Given the description of an element on the screen output the (x, y) to click on. 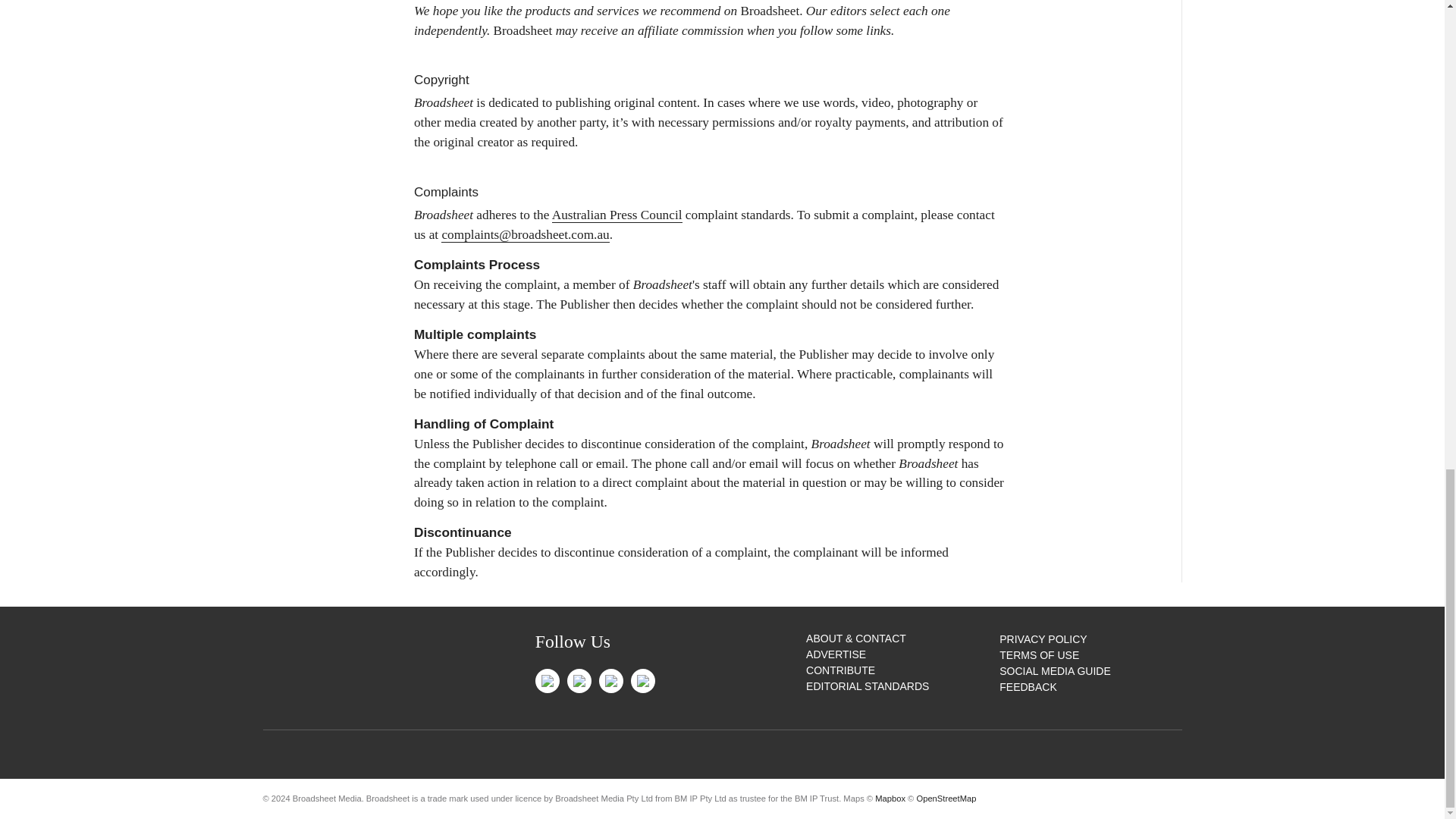
OpenStreetMap (945, 798)
CONTRIBUTE (840, 670)
SOCIAL MEDIA GUIDE (1054, 671)
PRIVACY POLICY (1042, 639)
EDITORIAL STANDARDS (867, 686)
TERMS OF USE (1038, 654)
Mapbox (890, 798)
ADVERTISE (836, 654)
Australian Press Council (616, 215)
FEEDBACK (1027, 686)
